Given the description of an element on the screen output the (x, y) to click on. 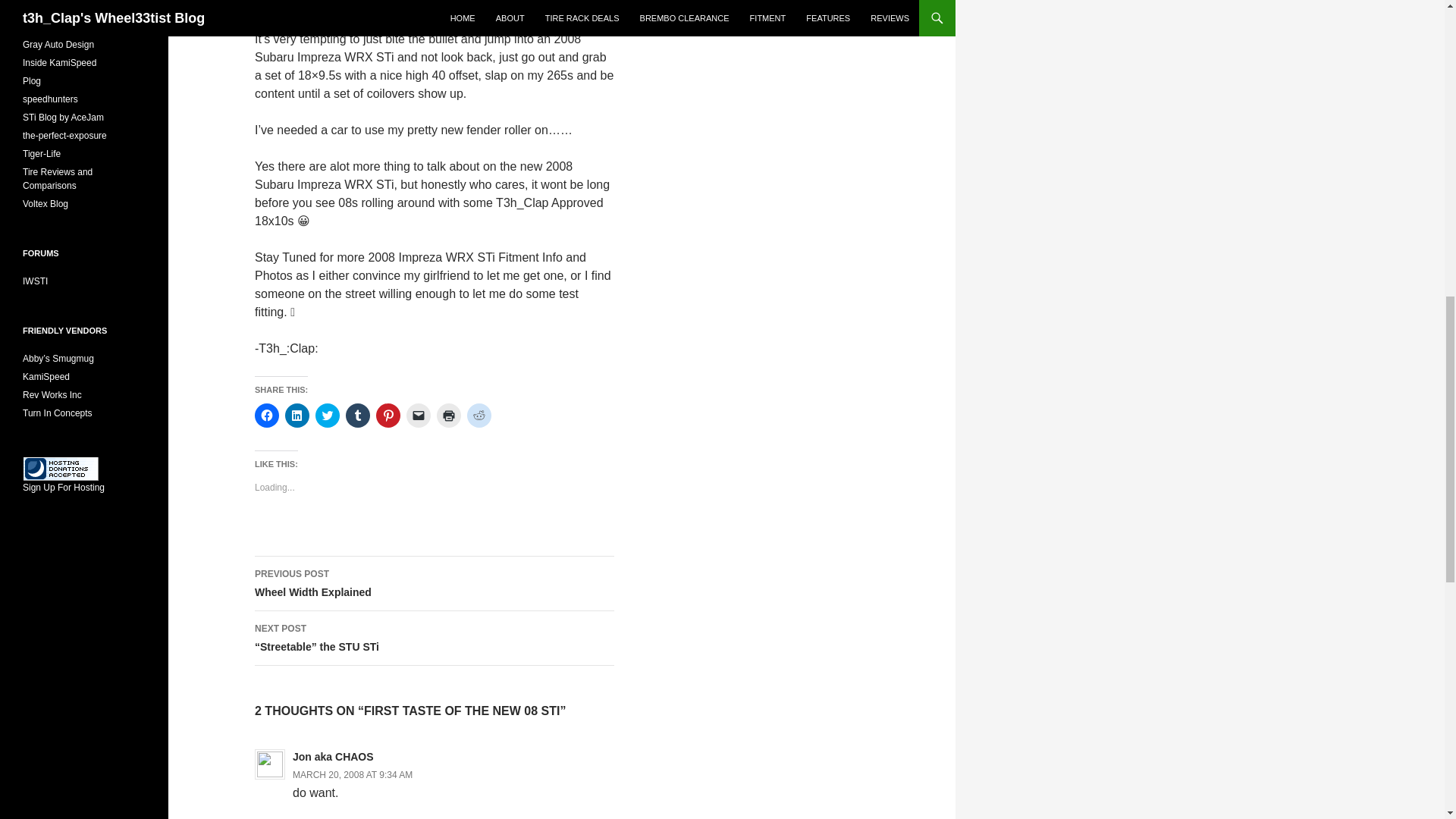
Click to share on Facebook (266, 415)
Click to share on Pinterest (387, 415)
Click to email a link to a friend (418, 415)
Click to share on LinkedIn (296, 415)
Click to share on Reddit (479, 415)
Click to share on Tumblr (357, 415)
Click to print (448, 415)
MARCH 20, 2008 AT 9:34 AM (434, 583)
Click to share on Twitter (352, 774)
